Given the description of an element on the screen output the (x, y) to click on. 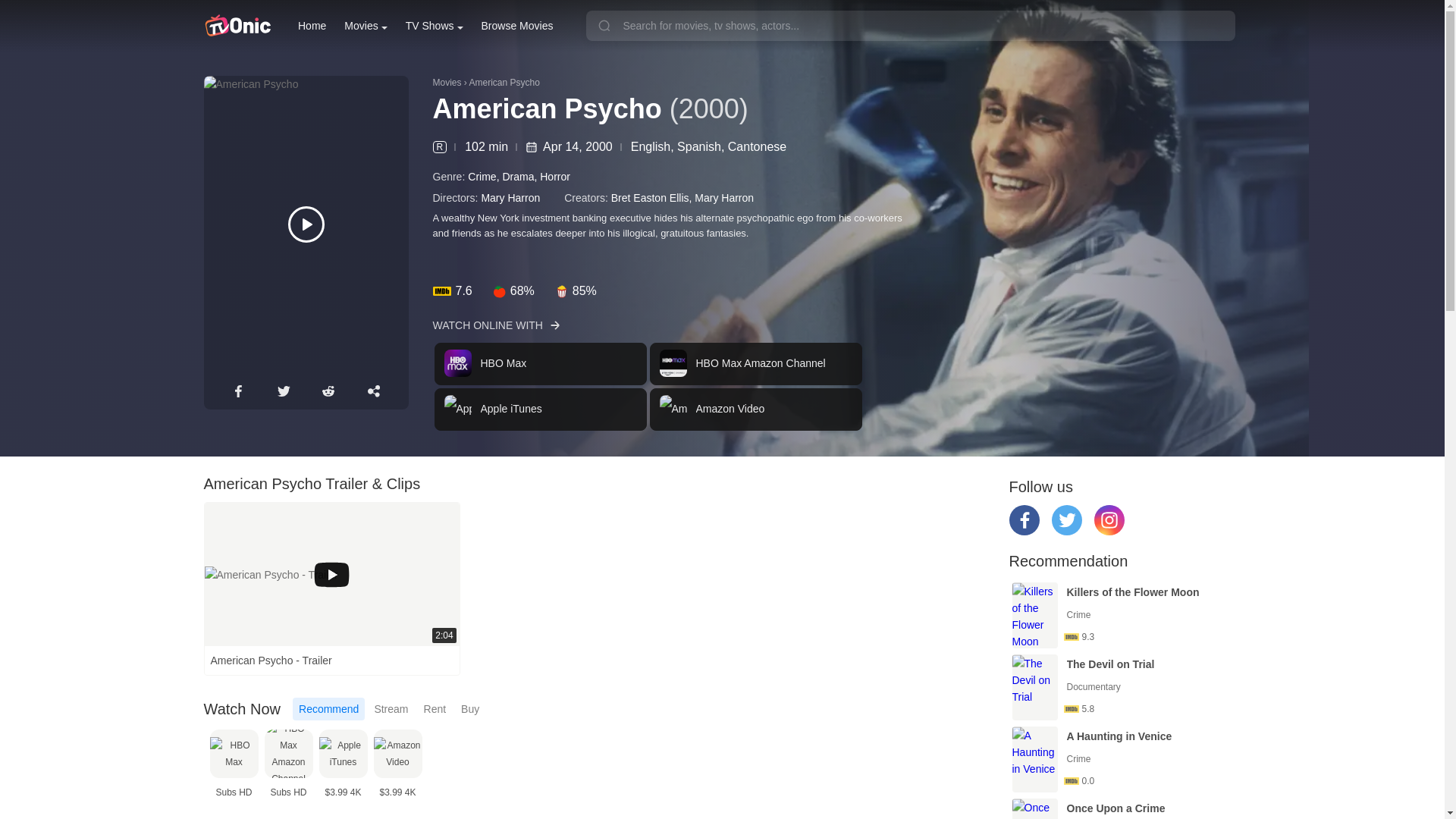
TVOnic (236, 25)
TV Shows (434, 25)
Home (312, 25)
Movies (365, 25)
Movies (647, 386)
